Given the description of an element on the screen output the (x, y) to click on. 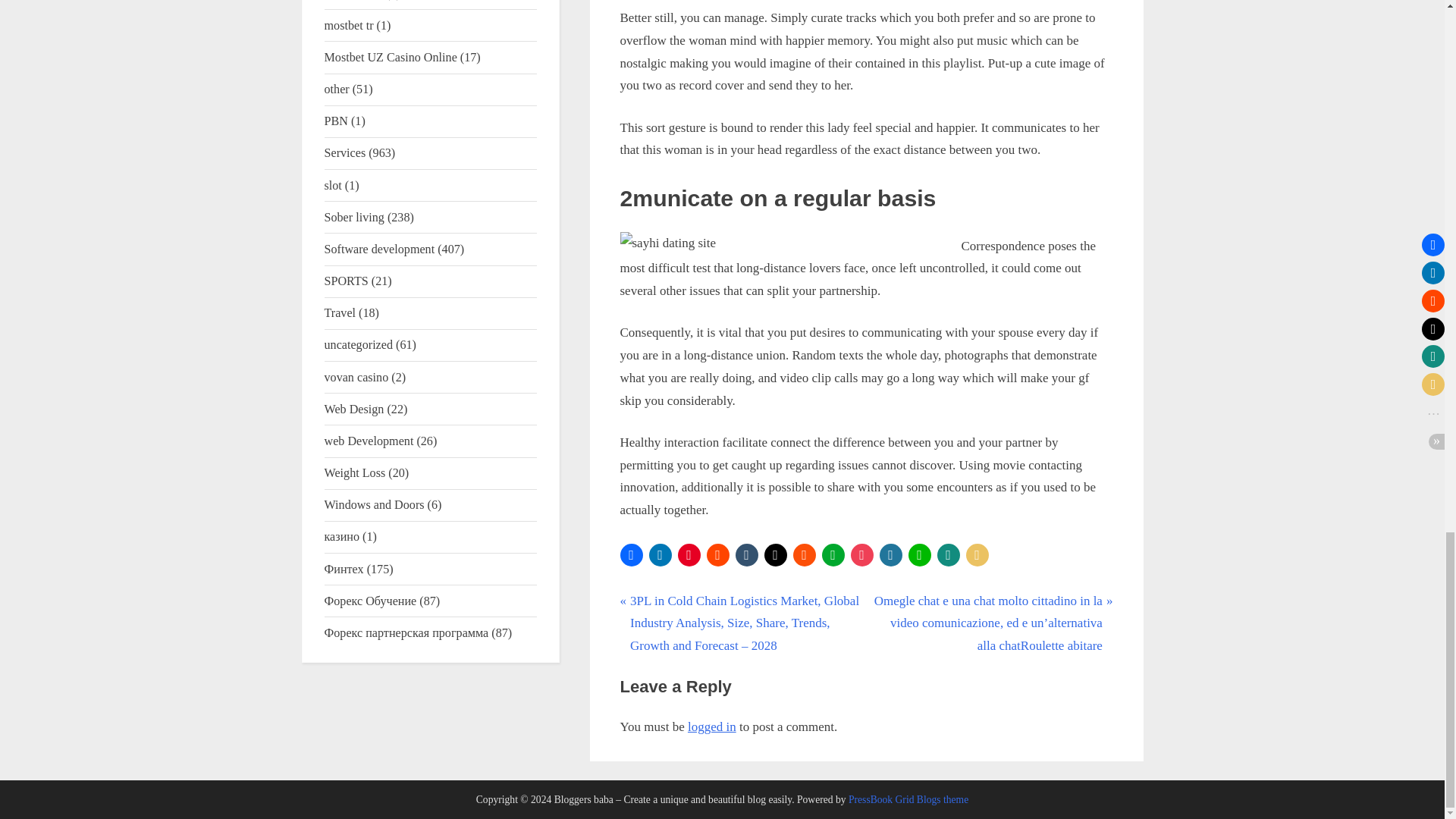
logged in (711, 726)
